Given the description of an element on the screen output the (x, y) to click on. 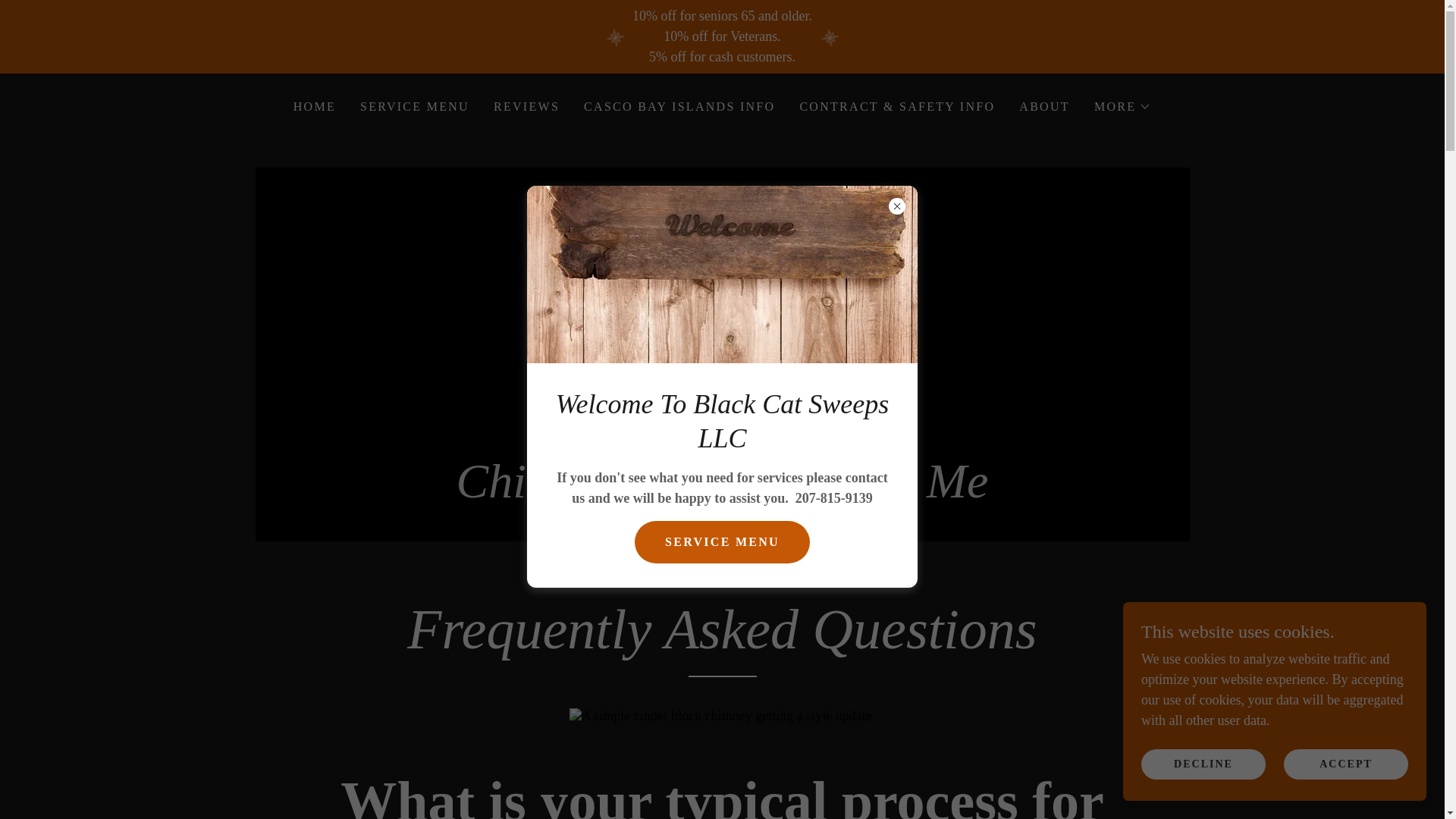
HOME (314, 106)
REVIEWS (526, 106)
ABOUT (1044, 106)
MORE (1122, 106)
CASCO BAY ISLANDS INFO (678, 106)
SERVICE MENU (414, 106)
